Given the description of an element on the screen output the (x, y) to click on. 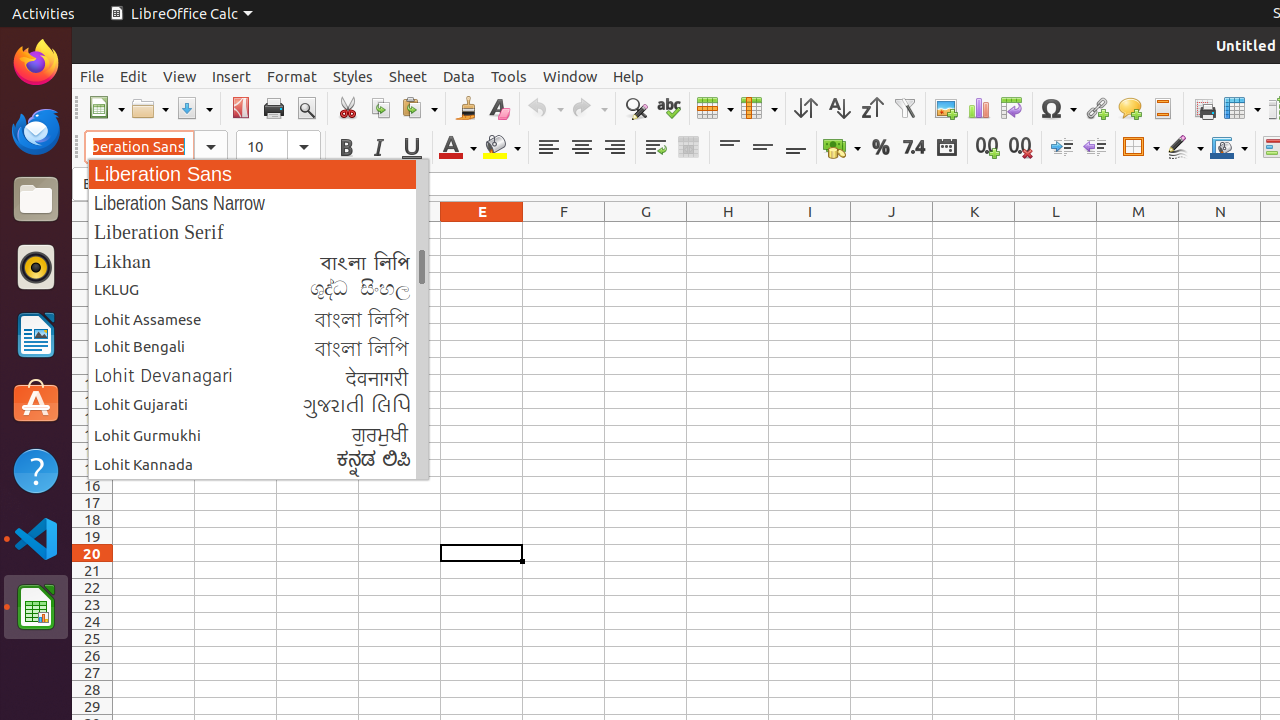
Center Vertically Element type: push-button (762, 147)
Font Color Element type: push-button (458, 147)
Headers and Footers Element type: push-button (1162, 108)
LibreOffice Writer Element type: push-button (36, 334)
Delete Decimal Place Element type: push-button (1020, 147)
